Given the description of an element on the screen output the (x, y) to click on. 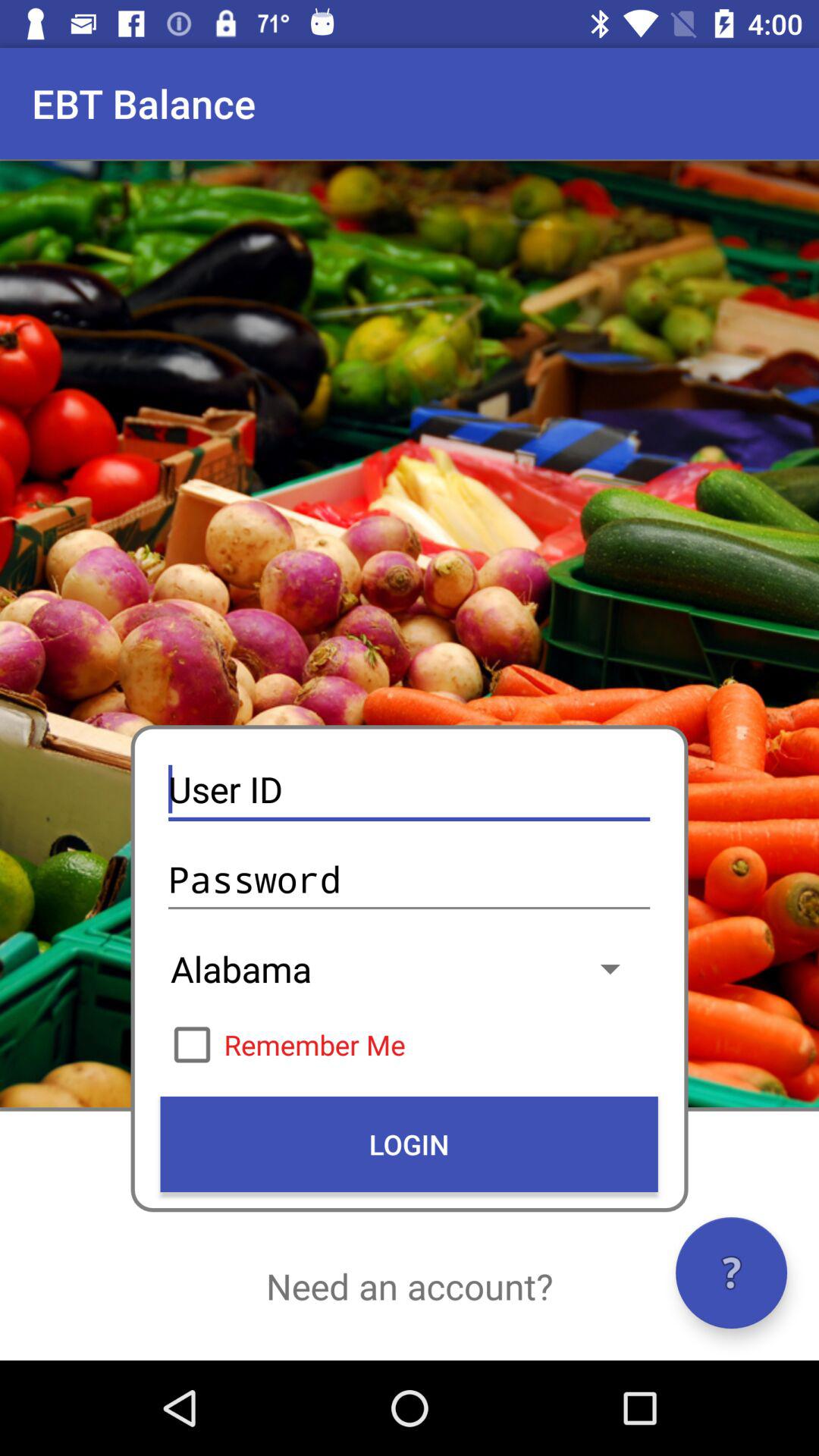
click the remember me (409, 1044)
